Given the description of an element on the screen output the (x, y) to click on. 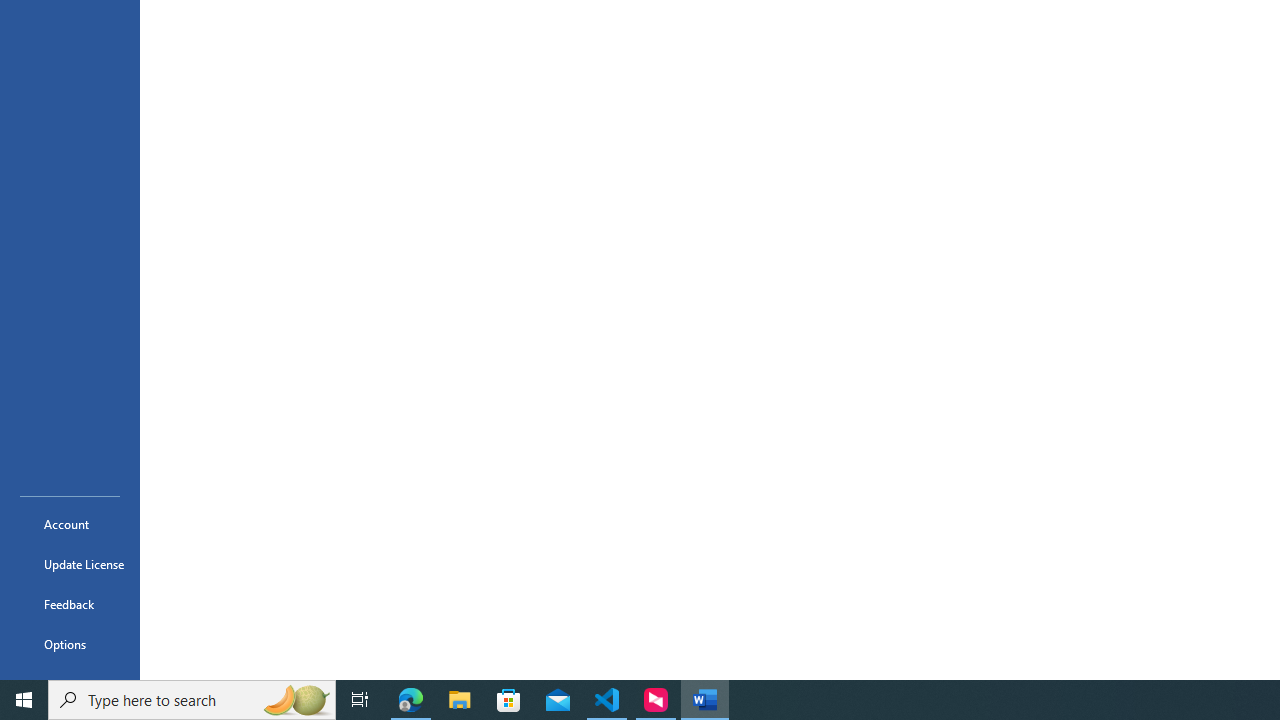
Feedback (69, 603)
Options (69, 643)
Update License (69, 563)
Account (69, 523)
